Given the description of an element on the screen output the (x, y) to click on. 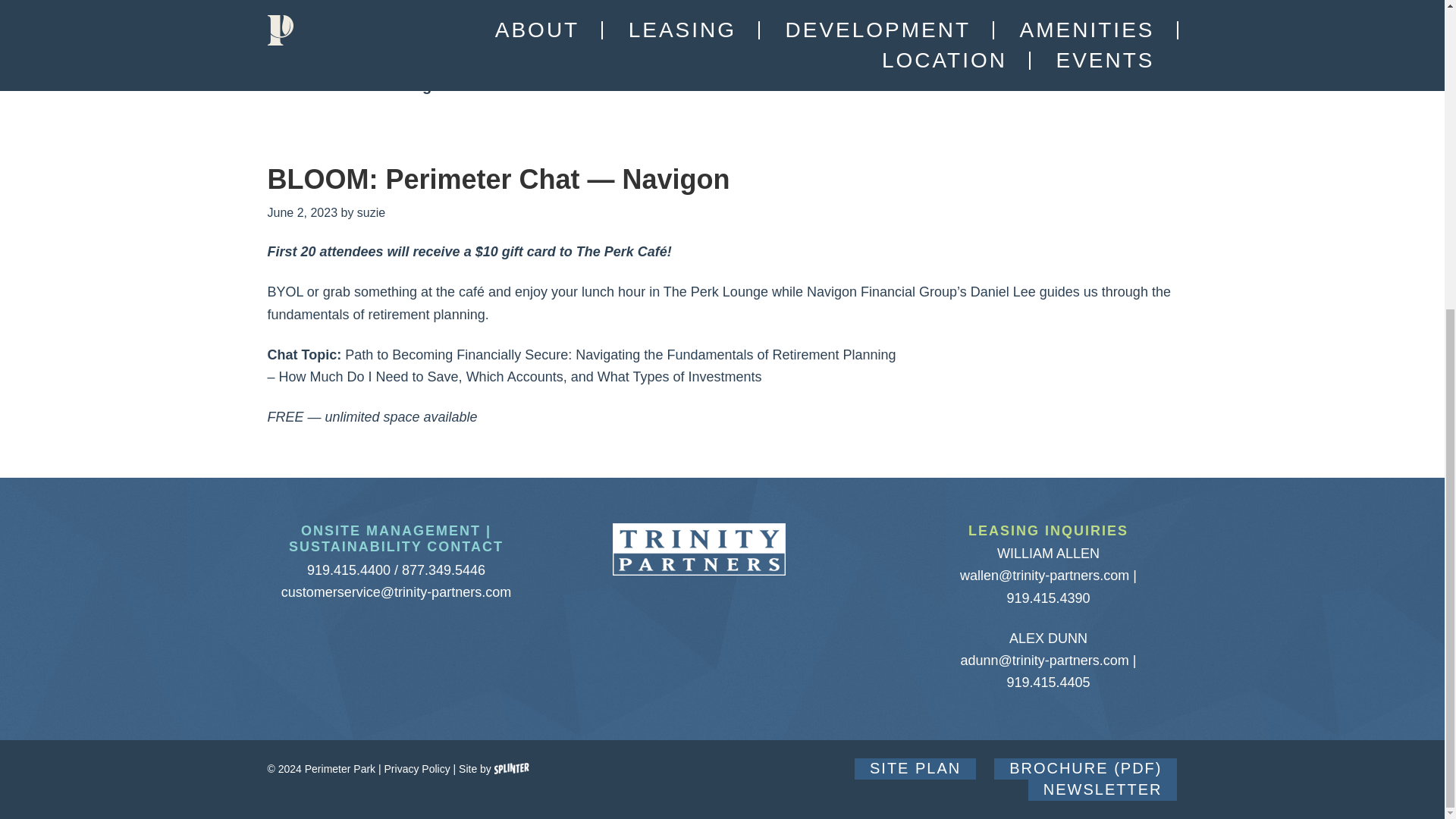
suzie (370, 212)
The Splinter Group (512, 768)
Privacy (416, 768)
Privacy Policy (416, 768)
SITE PLAN (914, 768)
NEWSLETTER (1102, 789)
